Given the description of an element on the screen output the (x, y) to click on. 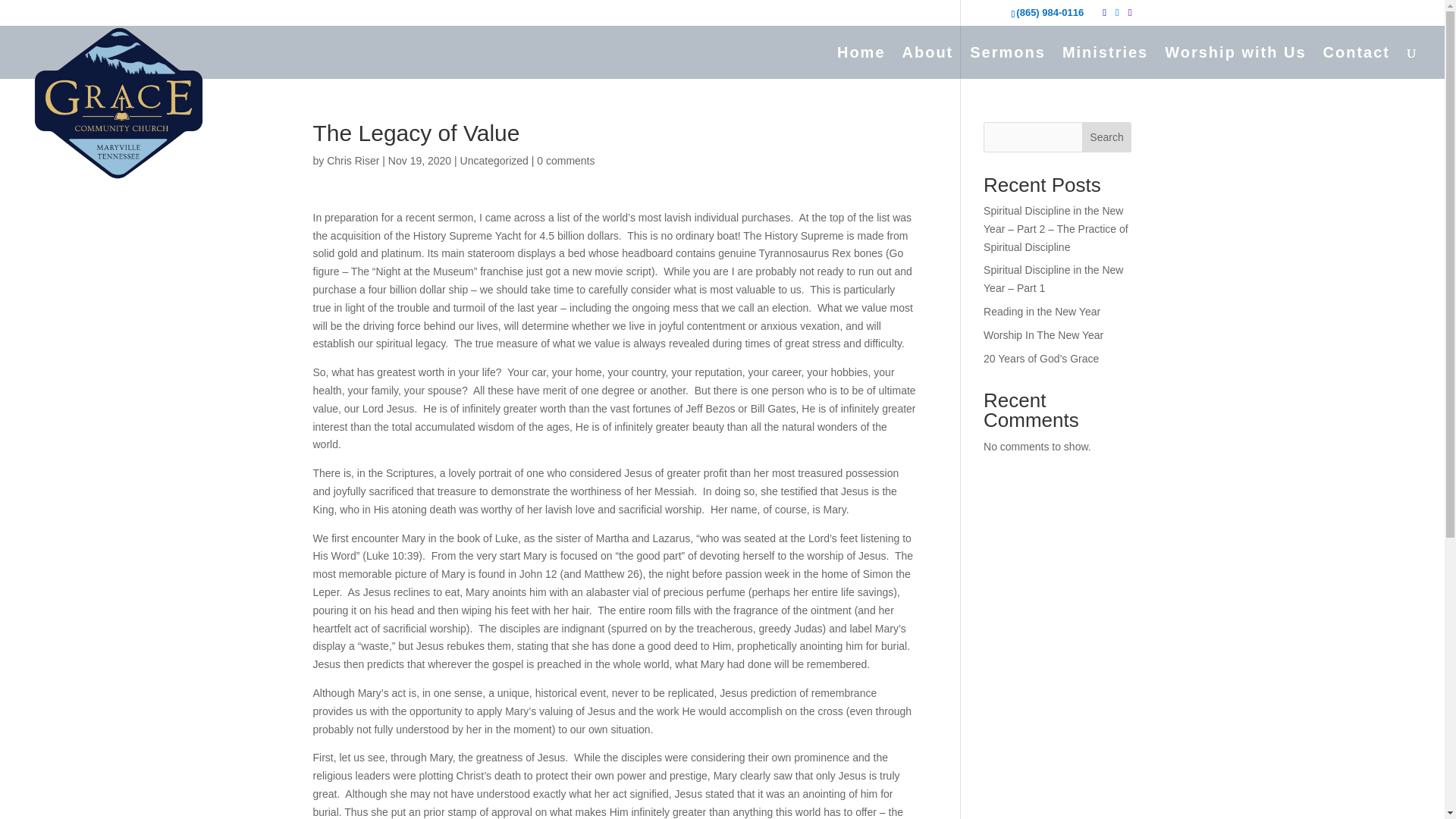
Sermons (1007, 62)
About (927, 62)
Uncategorized (494, 160)
Search (1106, 137)
0 comments (565, 160)
Reading in the New Year (1042, 311)
Worship with Us (1235, 62)
Home (861, 62)
Contact (1356, 62)
Posts by Chris Riser (352, 160)
Worship In The New Year (1043, 335)
Chris Riser (352, 160)
Ministries (1105, 62)
